Given the description of an element on the screen output the (x, y) to click on. 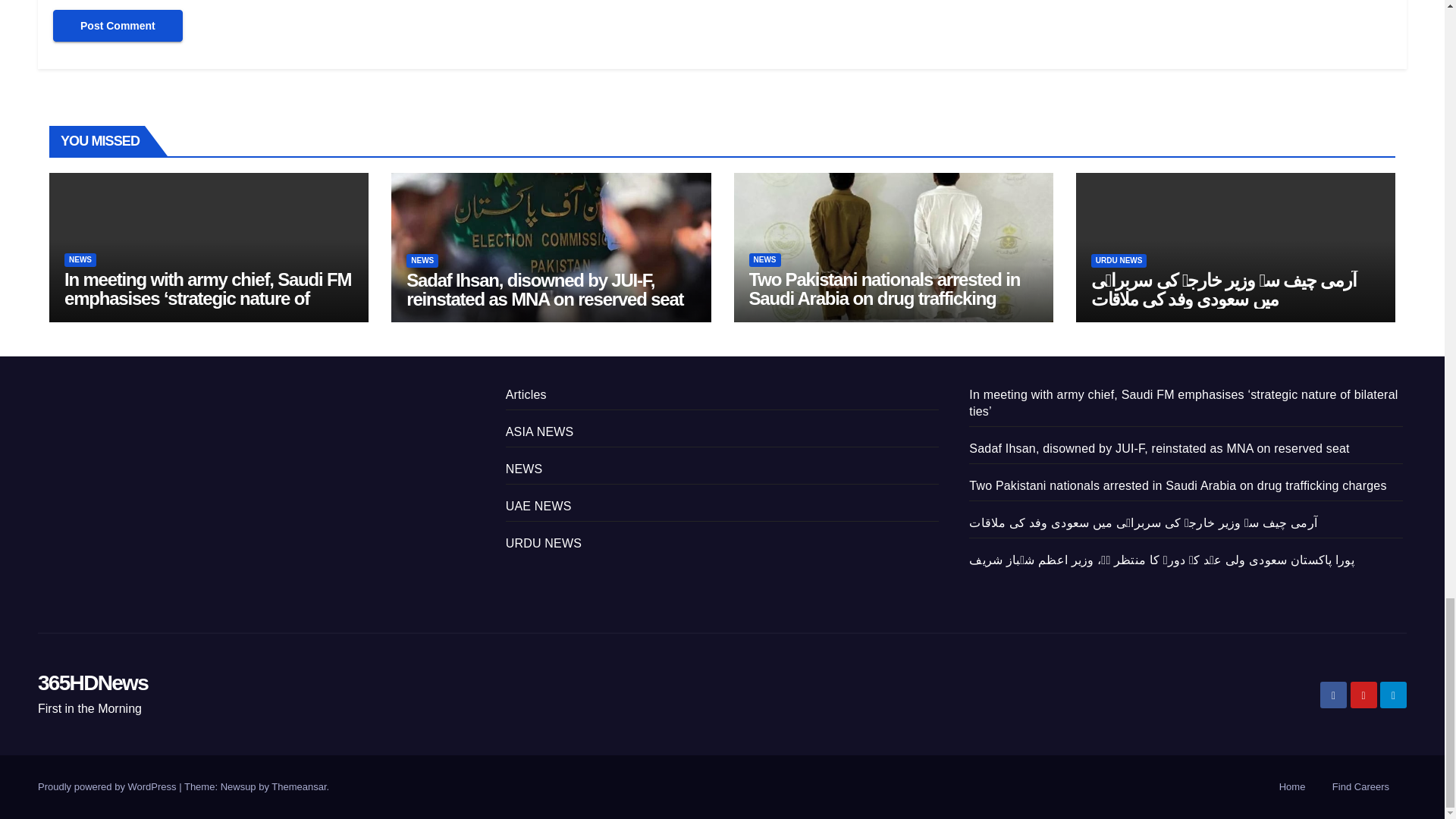
NEWS (422, 260)
Post Comment (117, 25)
Post Comment (117, 25)
Home (1291, 786)
Find Careers (1360, 786)
NEWS (80, 259)
